Given the description of an element on the screen output the (x, y) to click on. 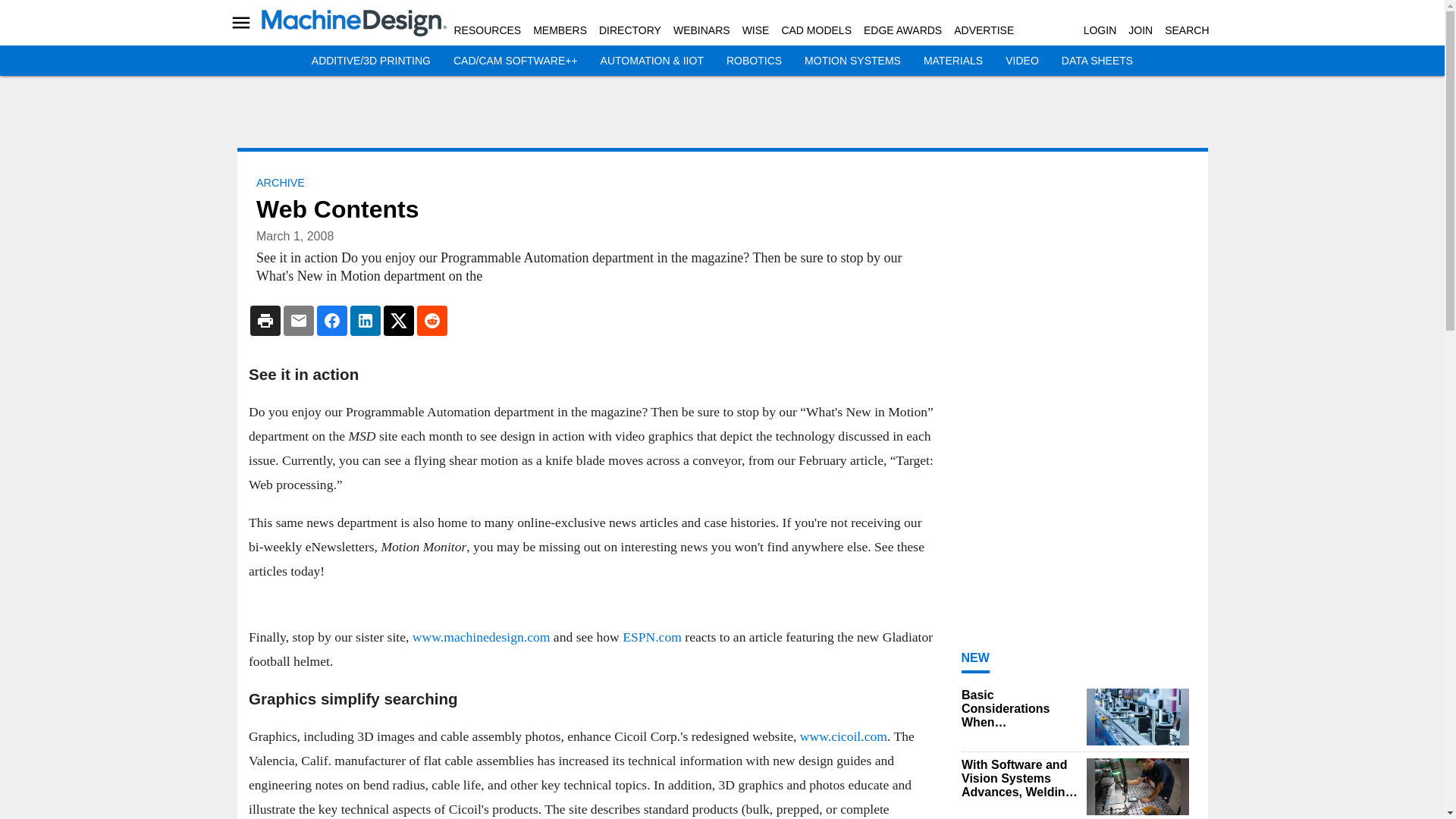
SEARCH (1186, 30)
CAD MODELS (815, 30)
DIRECTORY (629, 30)
VIDEO (1022, 60)
ADVERTISE (983, 30)
MATERIALS (952, 60)
EDGE AWARDS (902, 30)
ROBOTICS (753, 60)
WEBINARS (701, 30)
RESOURCES (486, 30)
